Given the description of an element on the screen output the (x, y) to click on. 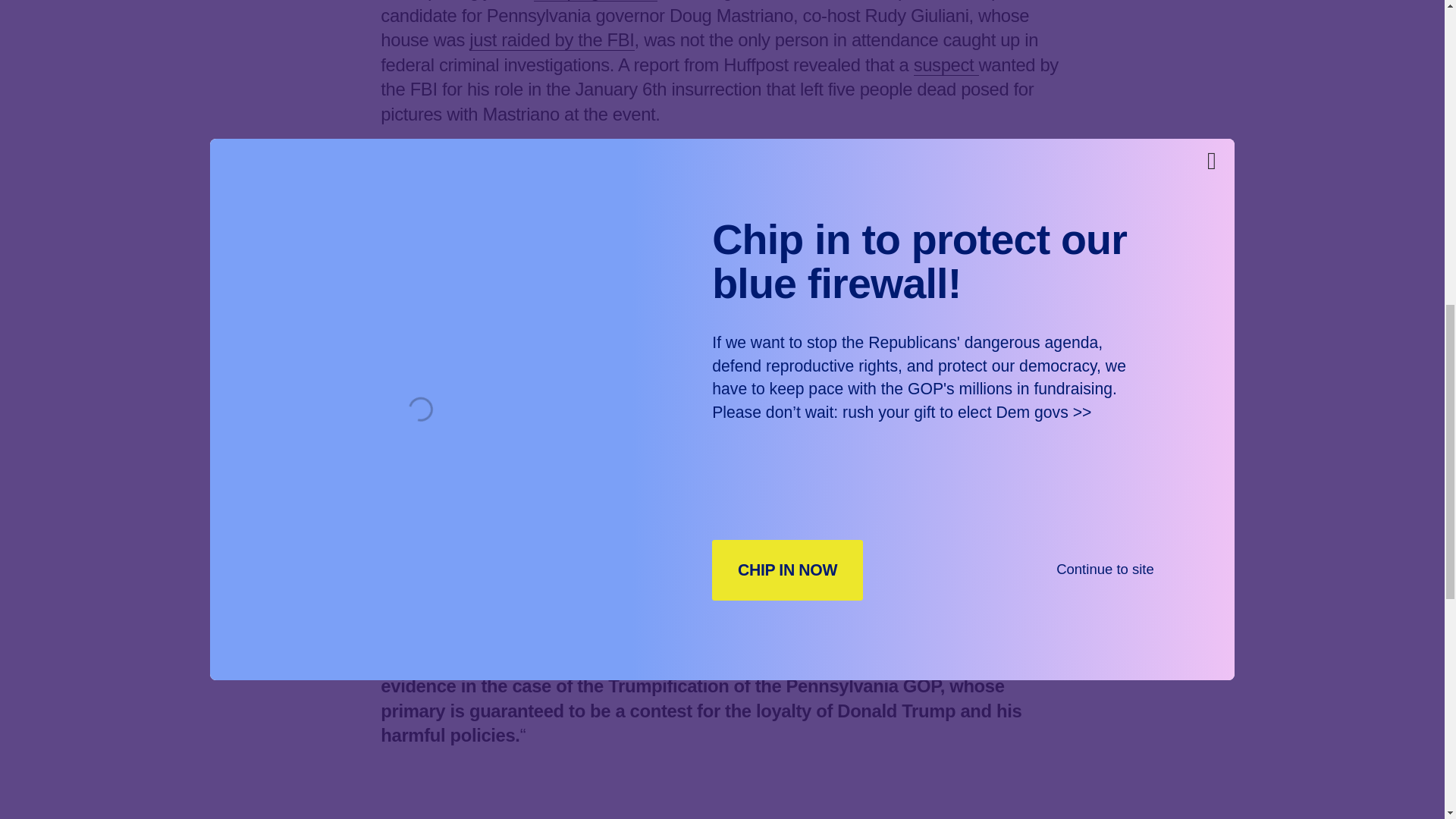
campaign paid thousands (507, 189)
Joe Gale (703, 450)
bragged  (764, 240)
just raided by the FBI (550, 39)
suspect  (946, 64)
Lou Barletta (503, 462)
noted before this event happened (719, 600)
